Given the description of an element on the screen output the (x, y) to click on. 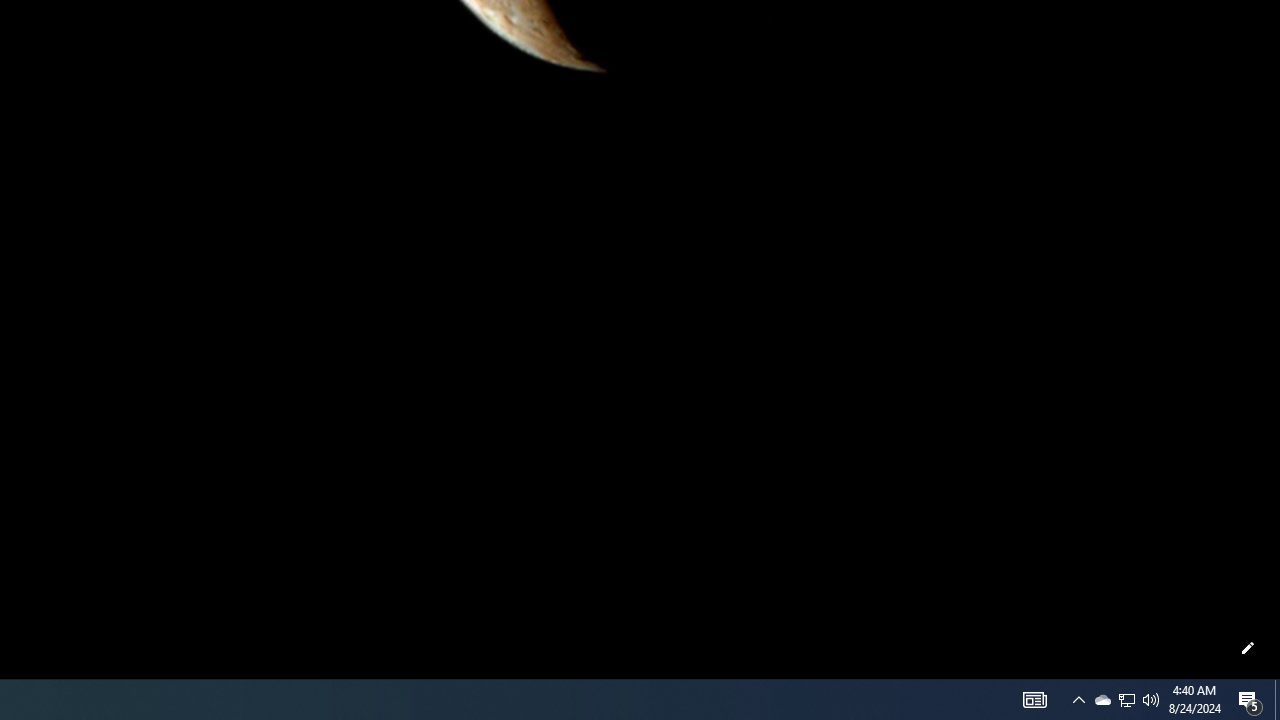
Customize this page (1247, 647)
